Given the description of an element on the screen output the (x, y) to click on. 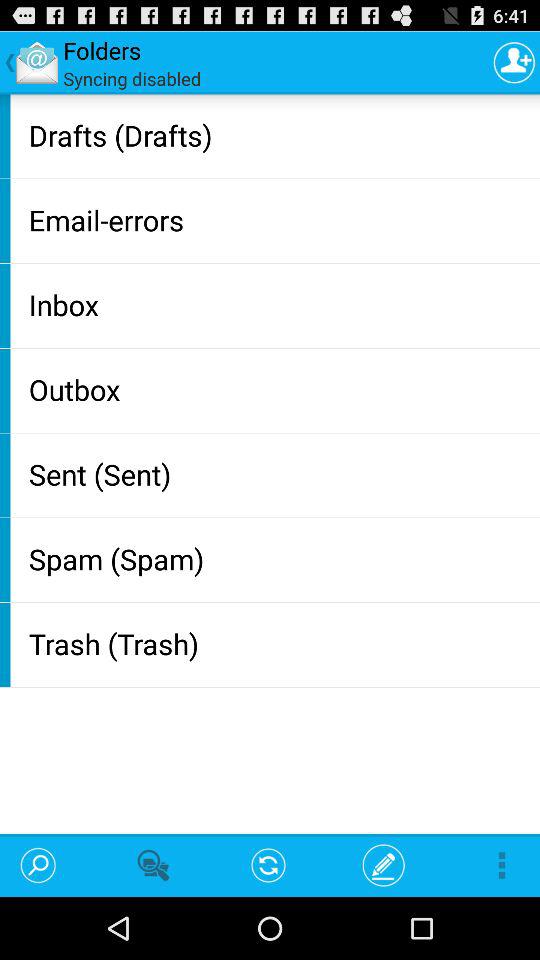
tap item to the right of syncing disabled icon (514, 62)
